Given the description of an element on the screen output the (x, y) to click on. 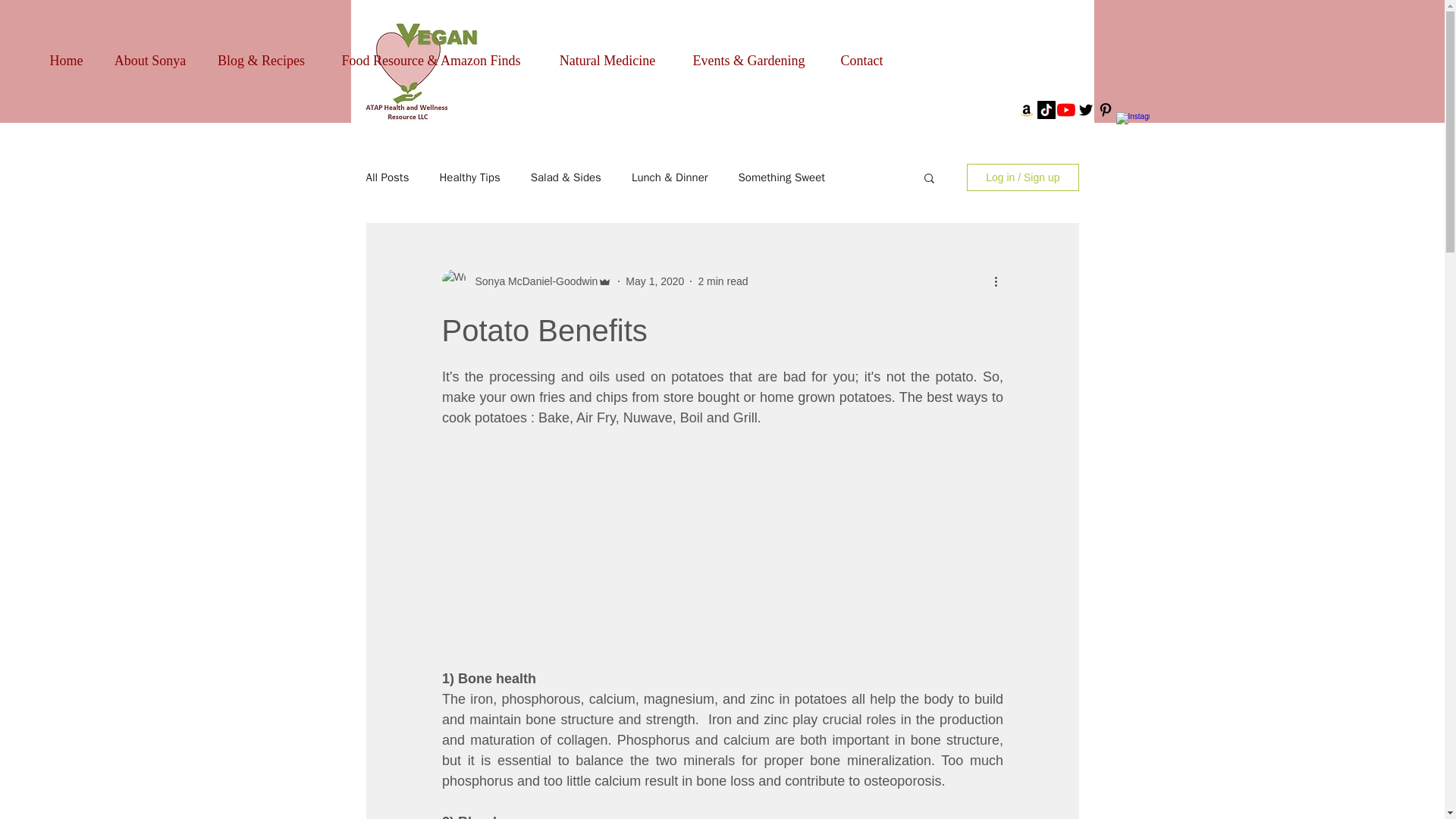
2 min read (722, 280)
Something Sweet (781, 176)
Natural Medicine (606, 53)
Healthy Tips (469, 176)
Sonya McDaniel-Goodwin (526, 281)
Home (66, 53)
Contact (861, 53)
May 1, 2020 (655, 280)
Sonya McDaniel-Goodwin (530, 280)
All Posts (387, 176)
About Sonya (150, 53)
